Given the description of an element on the screen output the (x, y) to click on. 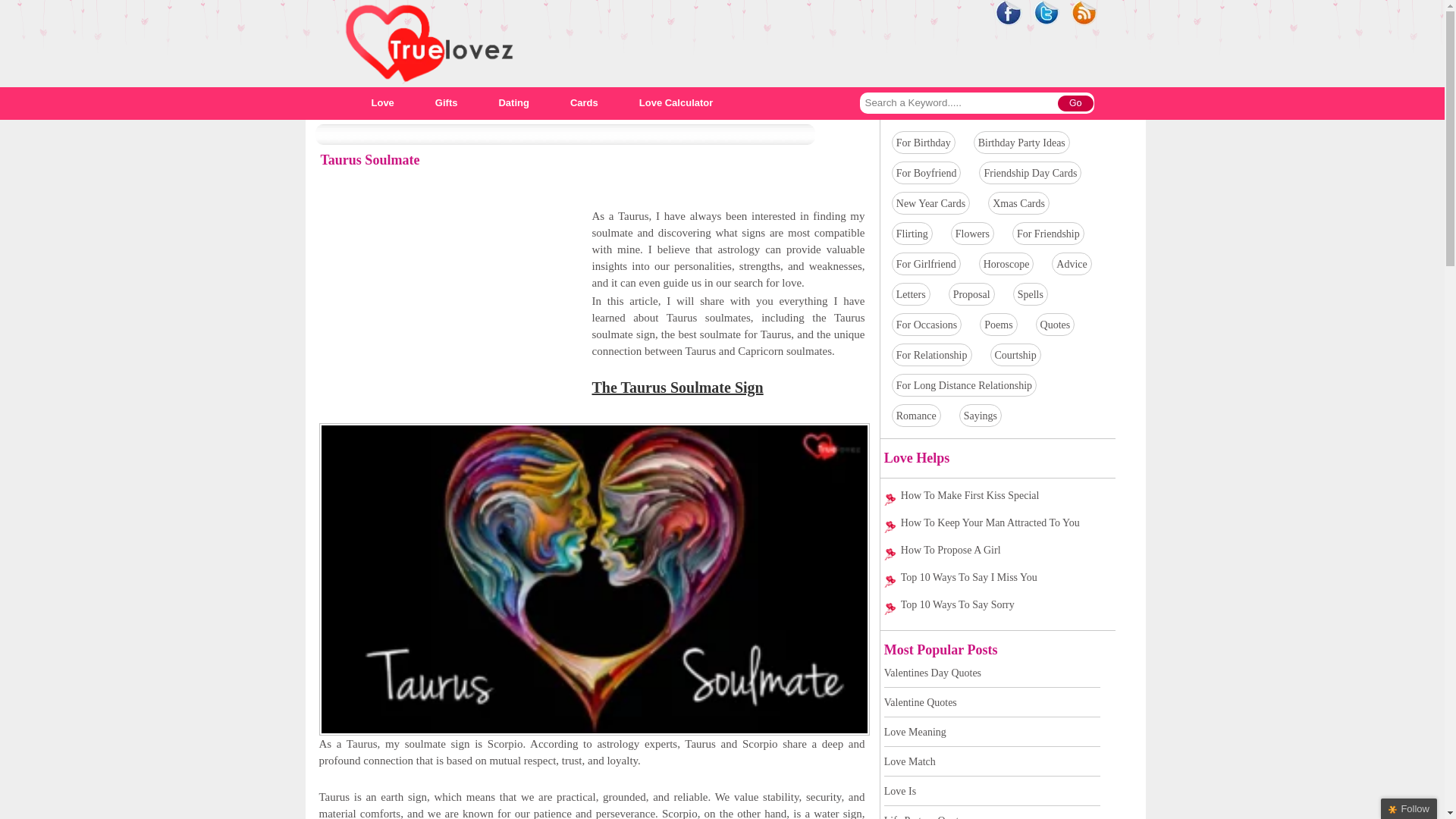
Search a Keyword..... (959, 102)
Quotes (1055, 324)
Horoscope (1006, 264)
For Boyfriend (926, 173)
For Long Distance Relationship (964, 385)
Advice (1071, 264)
Advertisement (445, 314)
Poems (997, 324)
Friendship Day Cards (1030, 173)
Gifts (446, 101)
For Girlfriend (926, 264)
Spells (1030, 294)
Xmas Cards (1018, 203)
For Relationship (932, 355)
New Year Cards (930, 203)
